Given the description of an element on the screen output the (x, y) to click on. 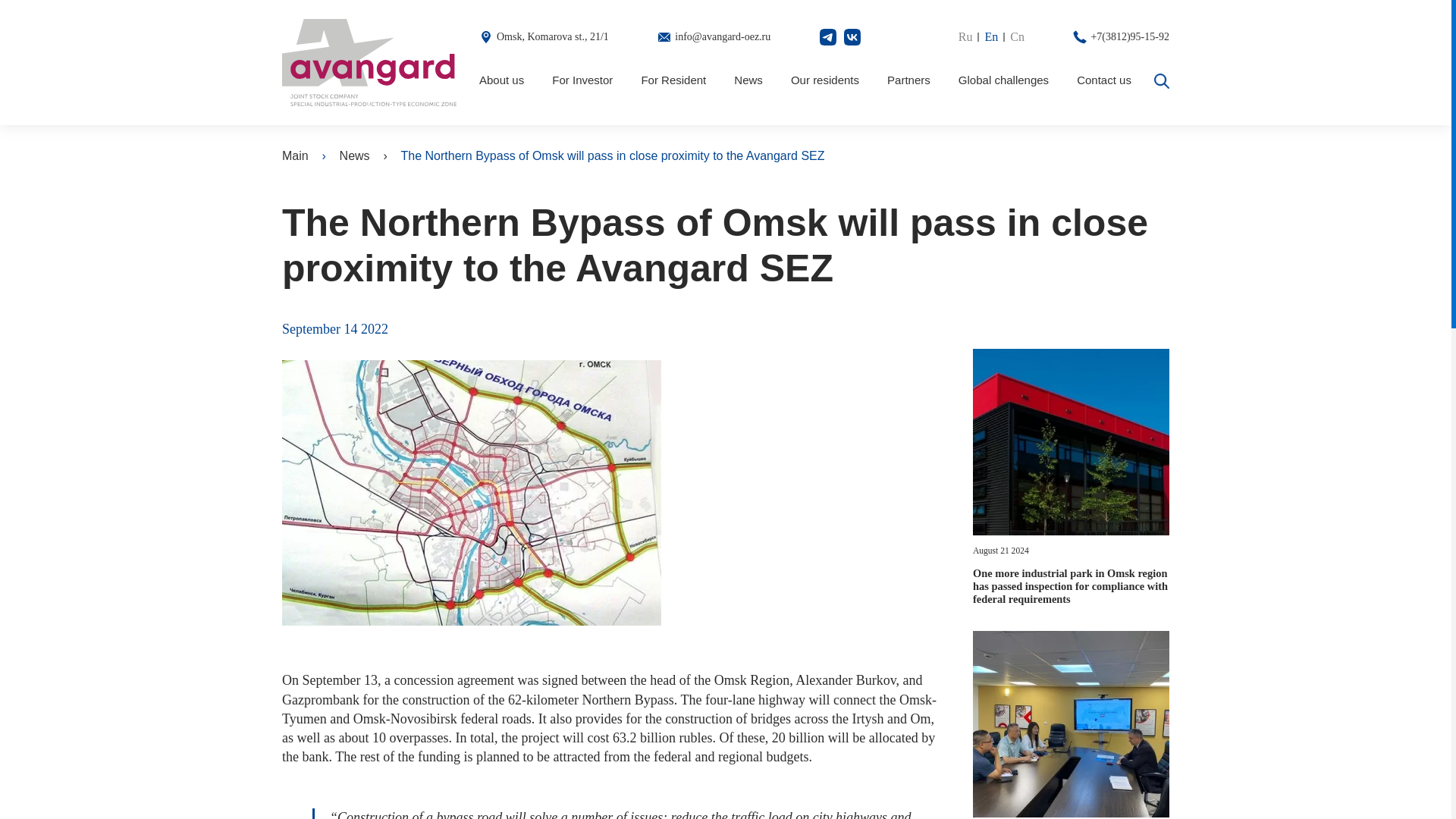
Cn (1017, 36)
Global challenges (1003, 79)
For Resident (673, 79)
Our residents (824, 79)
Contact us (1104, 79)
En (997, 36)
Main (295, 156)
Ru (971, 36)
About us (501, 79)
For Investor (581, 79)
